Given the description of an element on the screen output the (x, y) to click on. 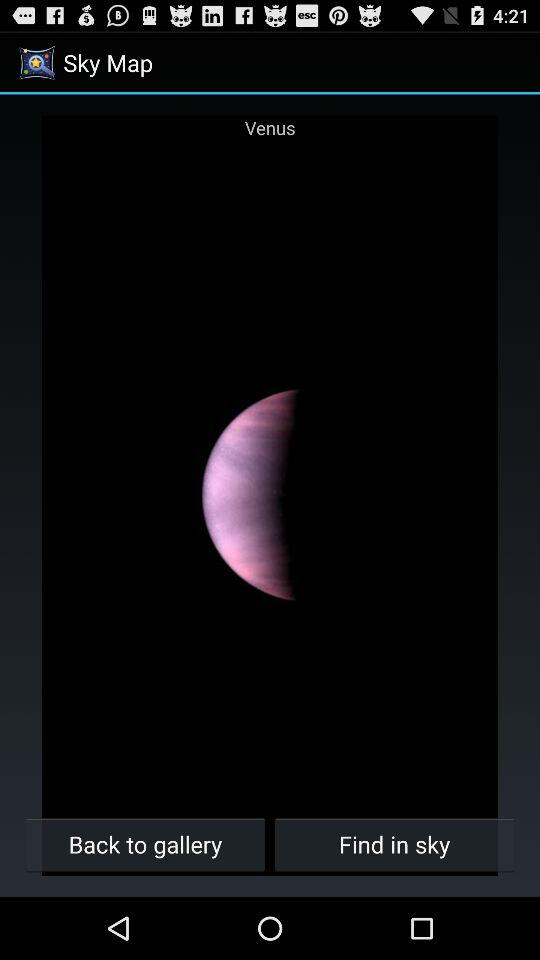
open find in sky at the bottom right corner (394, 844)
